Given the description of an element on the screen output the (x, y) to click on. 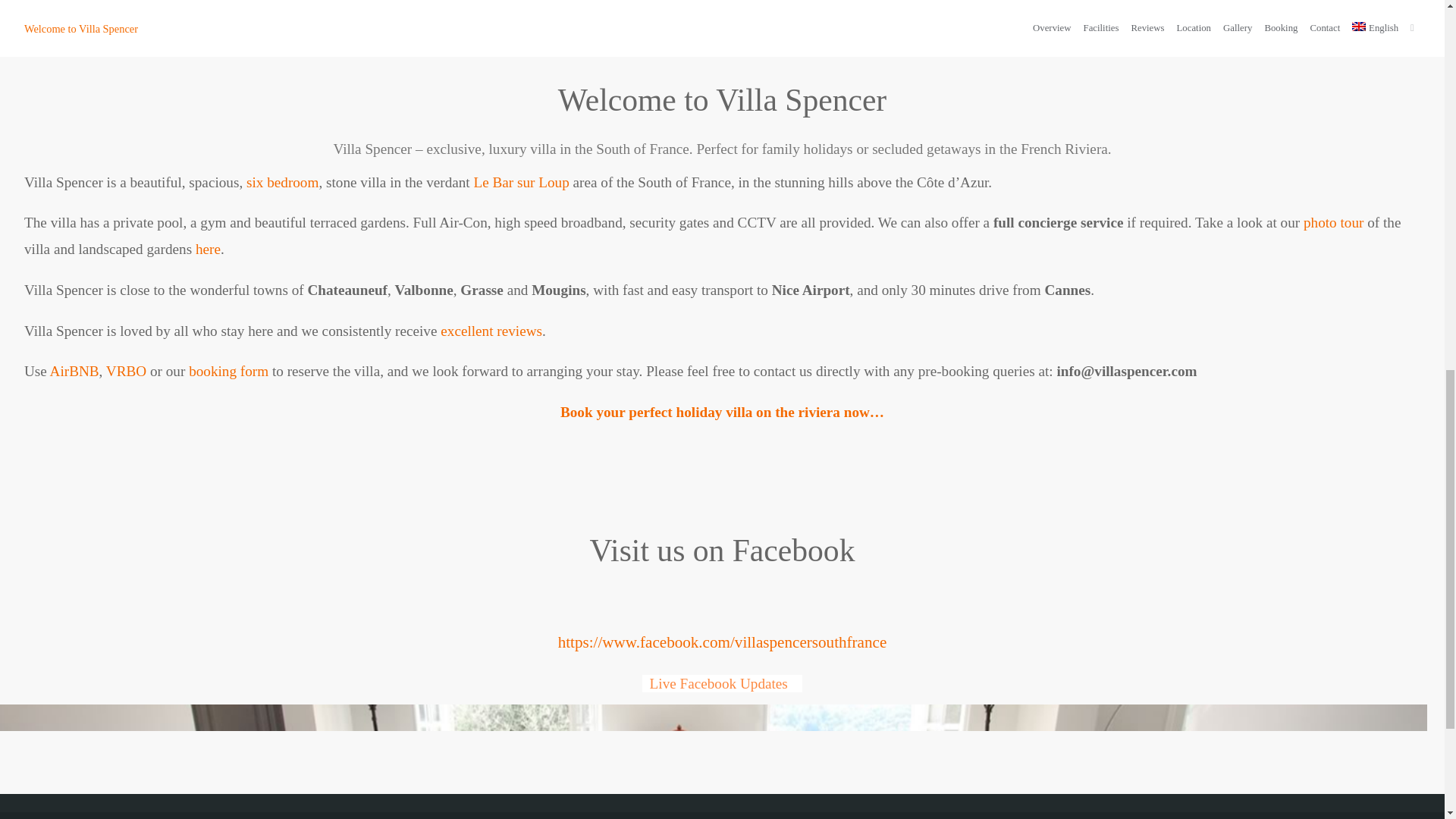
excellent reviews (491, 330)
booking form (228, 371)
Le Bar sur Loup (521, 182)
here (208, 248)
VRBO (126, 371)
AirBNB (74, 371)
photo tour (1332, 222)
six bedroom (282, 182)
